Given the description of an element on the screen output the (x, y) to click on. 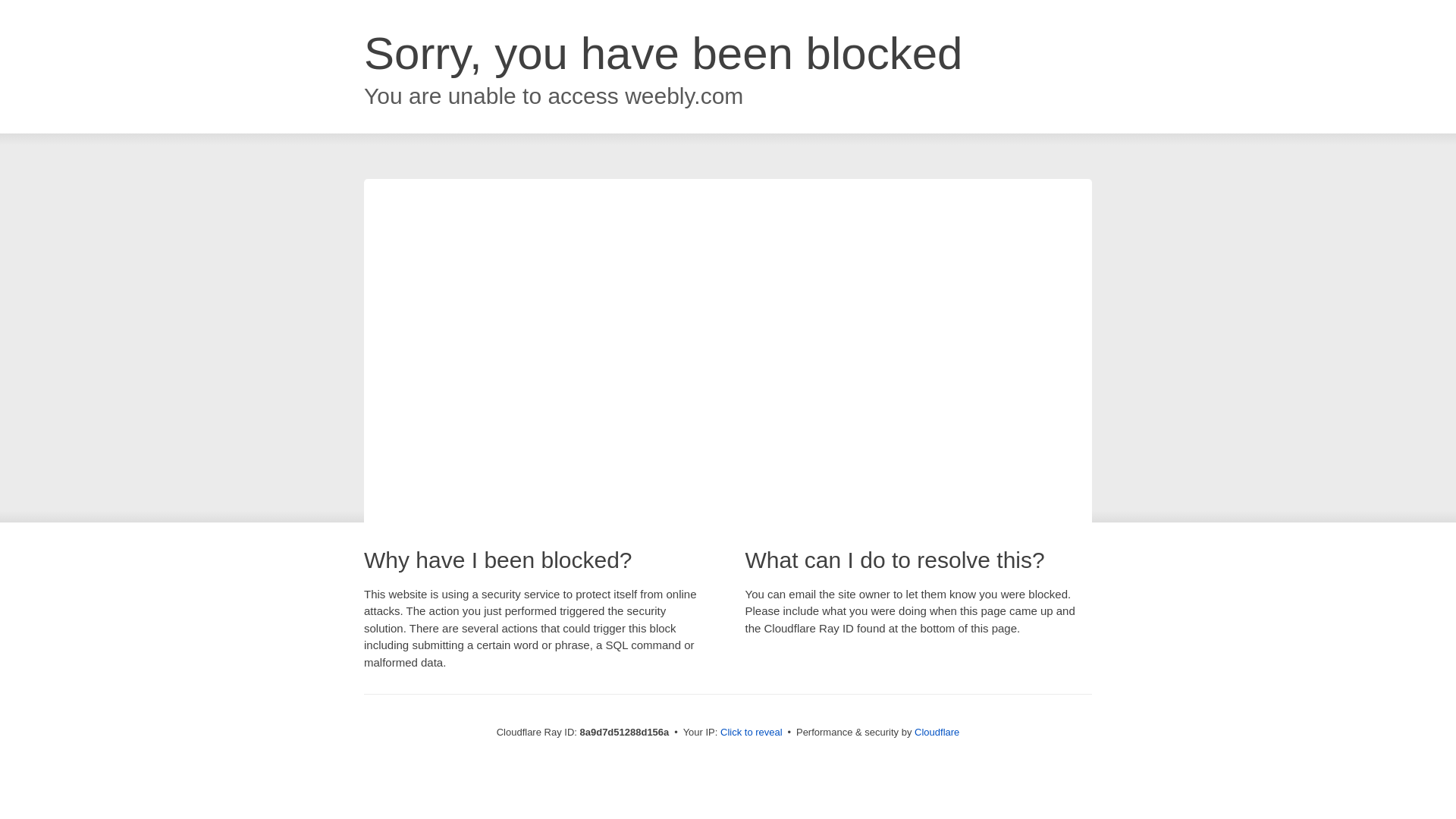
Cloudflare (936, 731)
Click to reveal (751, 732)
